Given the description of an element on the screen output the (x, y) to click on. 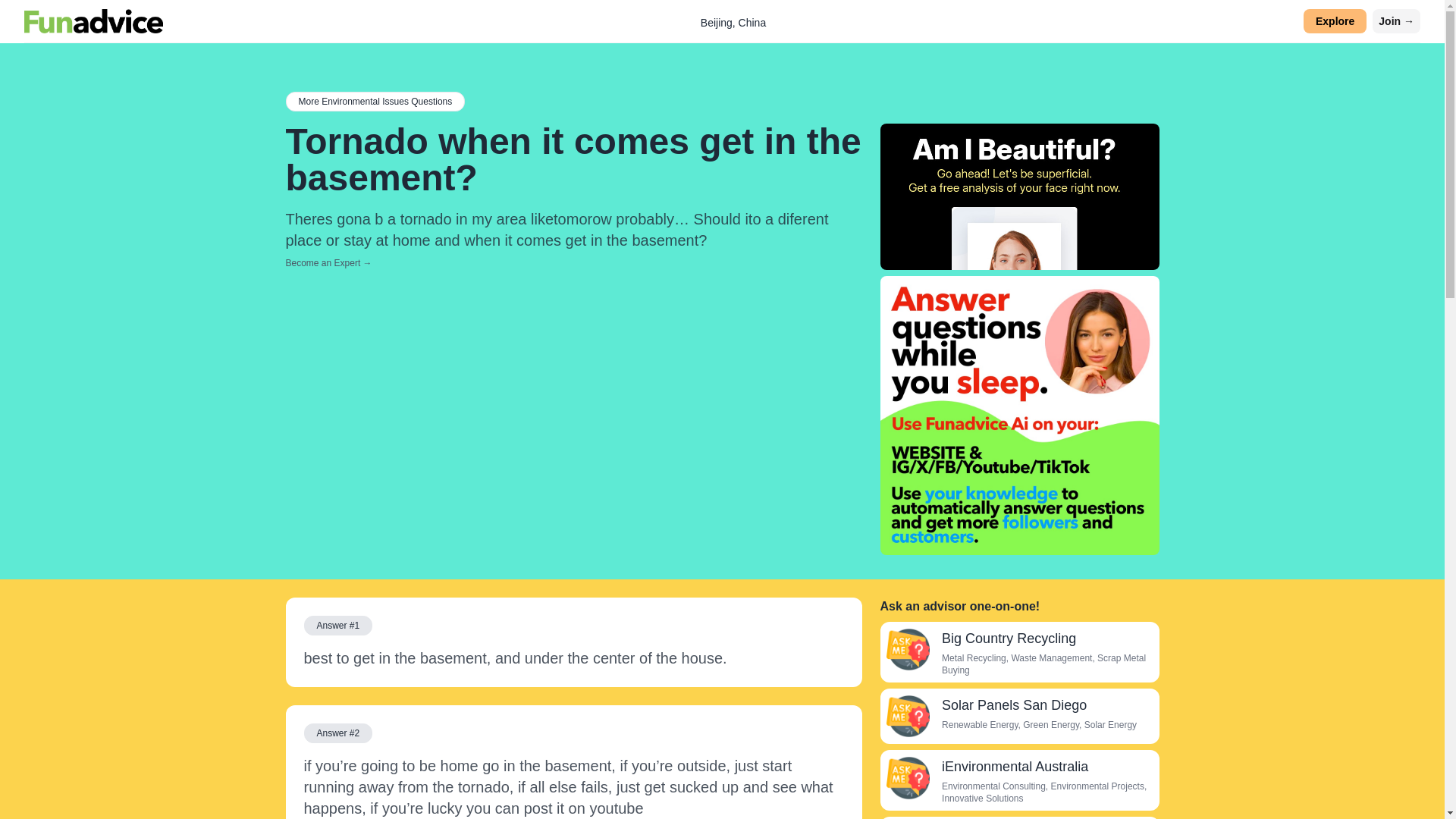
Solar Panels San Diego (907, 716)
Environmental Issues Questions (374, 101)
iEnvironmental Australia (907, 777)
Explore (1335, 21)
iEnvironmental Australia (1014, 766)
Solar Panels San Diego (1014, 704)
Big Country Recycling (907, 649)
Funadvice Home (93, 21)
Big Country Recycling (1008, 638)
Beijing, China (732, 22)
More Environmental Issues Questions (374, 101)
